Given the description of an element on the screen output the (x, y) to click on. 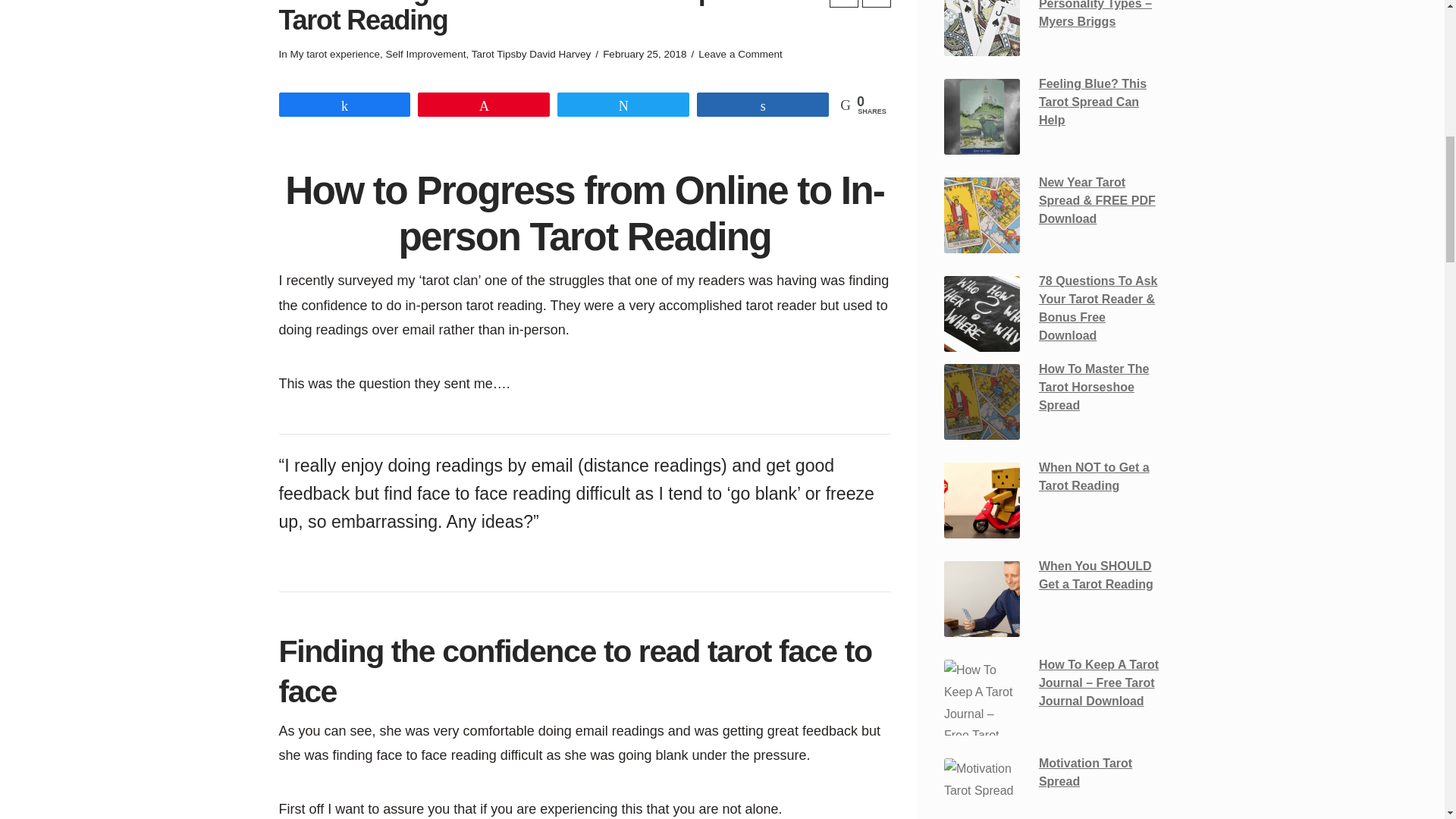
When NOT to Get a Tarot Reading (981, 500)
Motivation Tarot Spread (981, 788)
How To Master The Tarot Horseshoe Spread (981, 401)
When You SHOULD Get a Tarot Reading (981, 599)
Feeling Blue?  This Tarot Spread Can Help (981, 116)
